Given the description of an element on the screen output the (x, y) to click on. 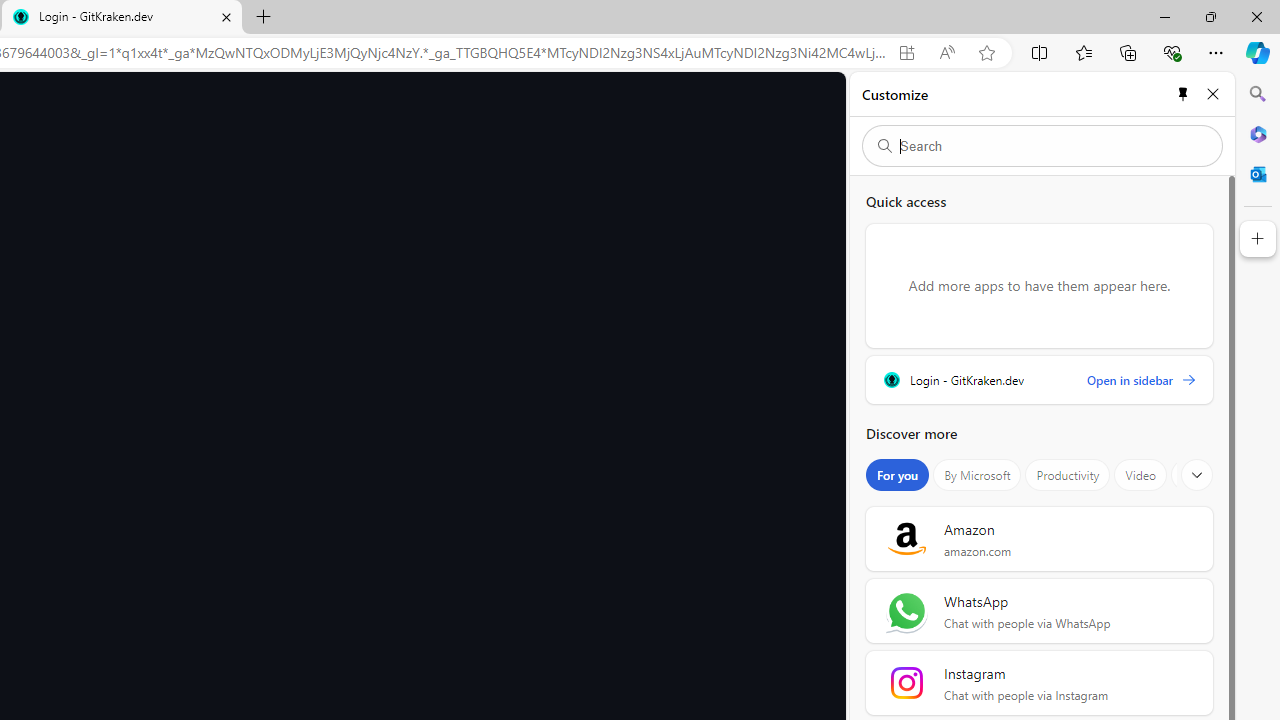
For you (898, 475)
Productivity (1068, 475)
Video (1140, 475)
